Given the description of an element on the screen output the (x, y) to click on. 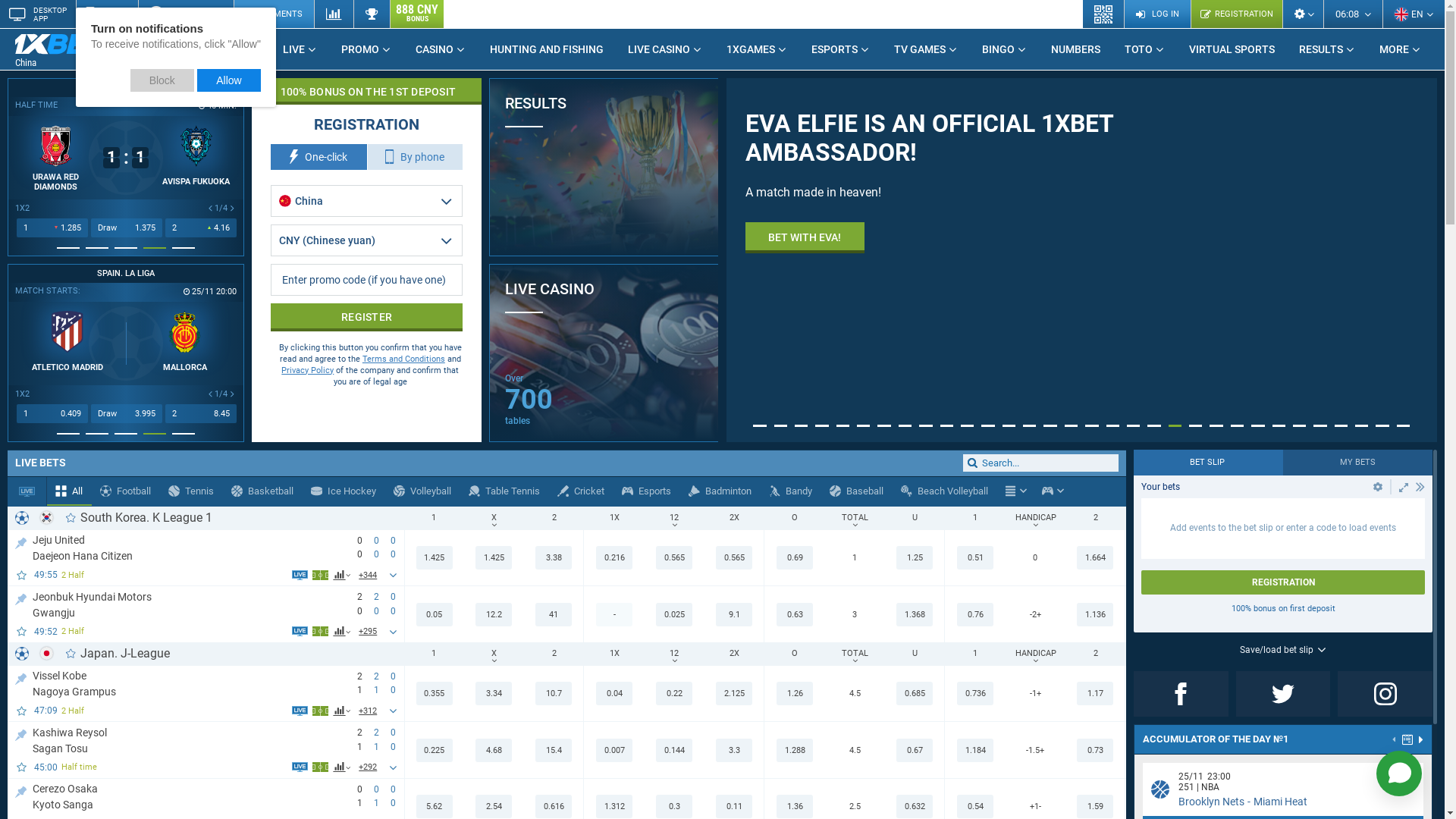
1
0.809 Element type: text (51, 413)
Basketball Element type: text (262, 490)
1xBet Betting Company Element type: hover (60, 43)
Vissel Kobe
Nagoya Grampus Element type: text (187, 682)
SPAIN. LA LIGA Element type: text (360, 273)
Save/load bet slip Element type: text (1282, 649)
By phone Element type: text (415, 156)
Show video stream Element type: hover (299, 710)
Show streaming games Element type: hover (26, 491)
Tennis Element type: text (191, 490)
+350 Element type: text (367, 574)
MORE Element type: text (1400, 48)
Terms and Conditions Element type: text (403, 359)
New version of the 1xBet website Element type: hover (372, 260)
BETS
VIA TELEGRAM Element type: text (185, 14)
Sports menu Element type: hover (1015, 490)
NUMBERS Element type: text (1075, 48)
CASINO Element type: text (440, 48)
Show video stream Element type: hover (299, 766)
Draw
3.3 Element type: text (126, 413)
1XGAMES Element type: text (756, 48)
REGISTRATION Element type: text (1282, 582)
HUNTING AND FISHING Element type: text (546, 48)
Promo code Element type: hover (366, 279)
+289 Element type: text (367, 710)
Brooklyn NetsMiami Heat Element type: text (1242, 801)
Football Element type: text (125, 490)
Esports menu Element type: hover (1052, 490)
JAPAN. J-LEAGUE Element type: text (125, 87)
Japan Element type: hover (46, 652)
Show 1xZone Element type: hover (320, 575)
+292 Element type: text (367, 767)
Jeju United
Daejeon Hana Citizen Element type: text (187, 547)
All Element type: text (69, 490)
Collapse block/Expand block Element type: hover (1419, 486)
Menu Element type: hover (1010, 490)
QR code login Element type: hover (1103, 14)
100% bonus on first deposit Element type: text (1283, 608)
REGISTRATION Element type: text (1236, 14)
NEW Element type: text (124, 42)
Open Element type: hover (1377, 486)
Baseball Element type: text (856, 490)
2
3.35 Element type: text (200, 413)
2
10.7 Element type: text (200, 227)
Results Element type: hover (371, 14)
Badminton Element type: text (720, 490)
JAPAN. J-LEAGUE Element type: text (360, 87)
Add event to favorites Element type: hover (22, 575)
Show 1xZone Element type: hover (320, 631)
Volleyball Element type: text (422, 490)
TOP Element type: hover (20, 596)
RESULTS Element type: text (1326, 48)
VIRTUAL SPORTS Element type: text (1231, 48)
Statistics Element type: hover (333, 14)
Jeonbuk Hyundai Motors
Gwangju Element type: text (187, 603)
Add event to favorites Element type: hover (22, 766)
TOP Element type: hover (20, 540)
CASINO
Over
15000
games Element type: text (718, 211)
BINGO Element type: text (1003, 48)
Add event to favorites Element type: hover (22, 710)
Kashiwa Reysol
Sagan Tosu Element type: text (187, 738)
Show 1xZone Element type: hover (320, 710)
PROMO Element type: text (366, 48)
Cerezo Osaka
Kyoto Sanga Element type: text (187, 795)
TOTO Element type: text (1144, 48)
LIVE CASINO Element type: text (664, 48)
China Element type: text (71, 49)
Show video stream Element type: hover (299, 575)
1
0.355 Element type: text (51, 227)
TOP Element type: hover (20, 731)
MOBILE
APP Element type: text (106, 14)
Draw
3.34 Element type: text (126, 227)
Next accumulator Element type: hover (1420, 739)
100%
BONUS ON THE 1ST DEPOSIT Element type: text (366, 91)
DESKTOP
APP Element type: text (37, 14)
Japan. J-League Element type: text (124, 653)
MY BETS Element type: text (1357, 462)
Esports Element type: hover (1047, 490)
Privacy Policy Element type: text (307, 370)
PAYMENTS Element type: text (273, 14)
TOP Element type: hover (20, 788)
Show 1xZone Element type: hover (320, 766)
Allow Element type: text (228, 80)
Show video stream Element type: hover (299, 631)
TOP Element type: hover (20, 675)
One-click Element type: text (318, 156)
Add event to favorites Element type: hover (22, 631)
+296 Element type: text (367, 631)
Block Element type: text (162, 80)
TV GAMES Element type: text (925, 48)
LIVE Element type: text (299, 48)
BET SLIP Element type: text (1208, 462)
Cricket Element type: text (581, 490)
LIVE CASINO
Over
700
tables Element type: text (603, 352)
ESPORTS Element type: text (840, 48)
888 CNY
BONUS Element type: text (416, 14)
Previous accumulator Element type: hover (1394, 740)
Settings Element type: hover (1302, 14)
Ice Hockey Element type: text (343, 490)
TAKE PART Element type: text (795, 237)
South Korea Element type: hover (46, 517)
SPORTS Element type: text (232, 48)
Beach Volleyball Element type: text (944, 490)
ENGLAND. PREMIER LEAGUE Element type: text (125, 273)
South Korea. K League 1 Element type: text (146, 517)
Bandy Element type: text (790, 490)
GAMES
Over
100
games Element type: text (718, 397)
Collapse/Expand Element type: hover (1403, 486)
RESULTS Element type: text (603, 167)
Esports Element type: text (646, 490)
Table Tennis Element type: text (504, 490)
